Given the description of an element on the screen output the (x, y) to click on. 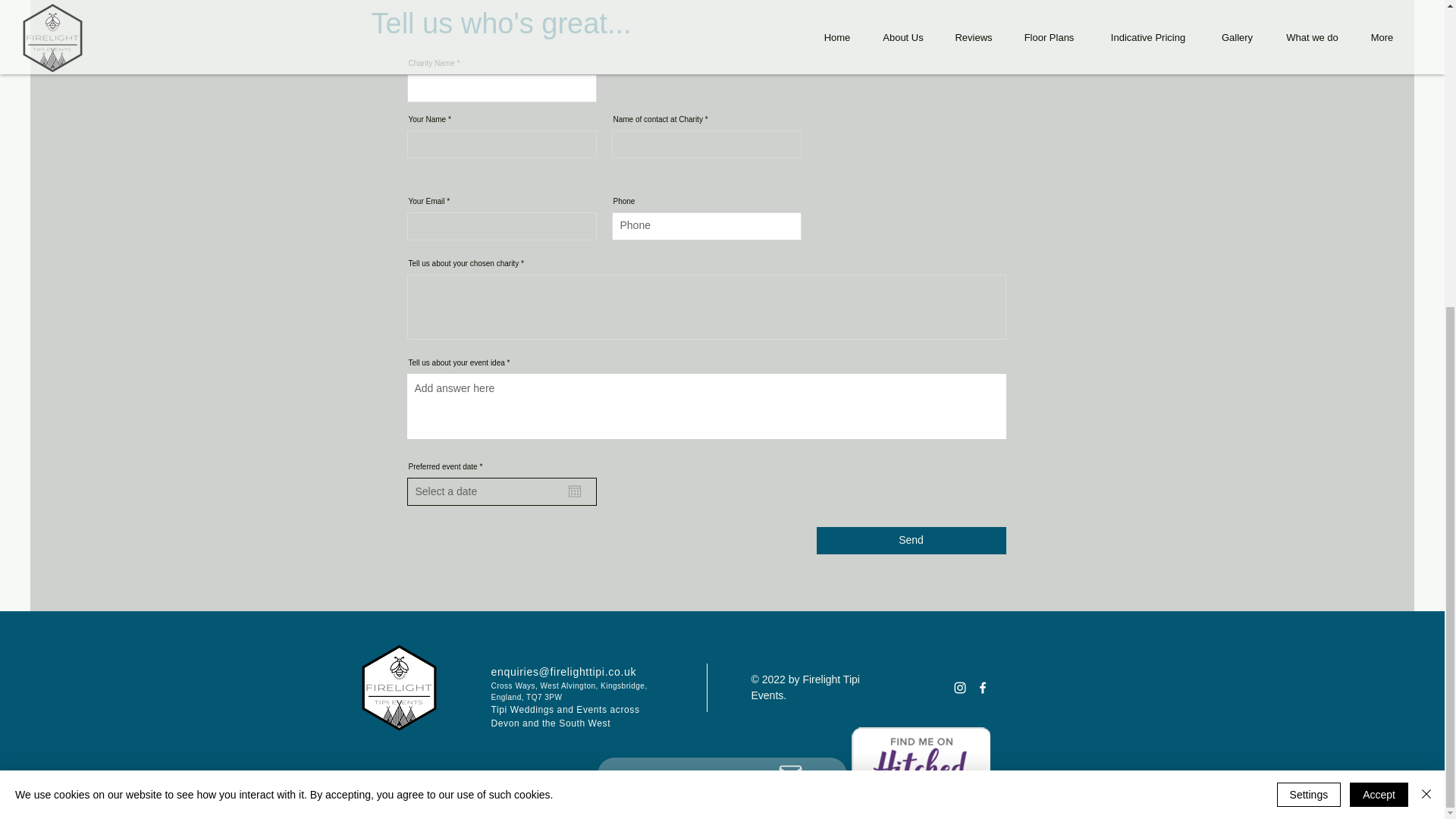
Hiche Button (920, 757)
Send (910, 540)
Accept (1378, 311)
Get a Quote Now (721, 291)
Settings (1308, 311)
